Given the description of an element on the screen output the (x, y) to click on. 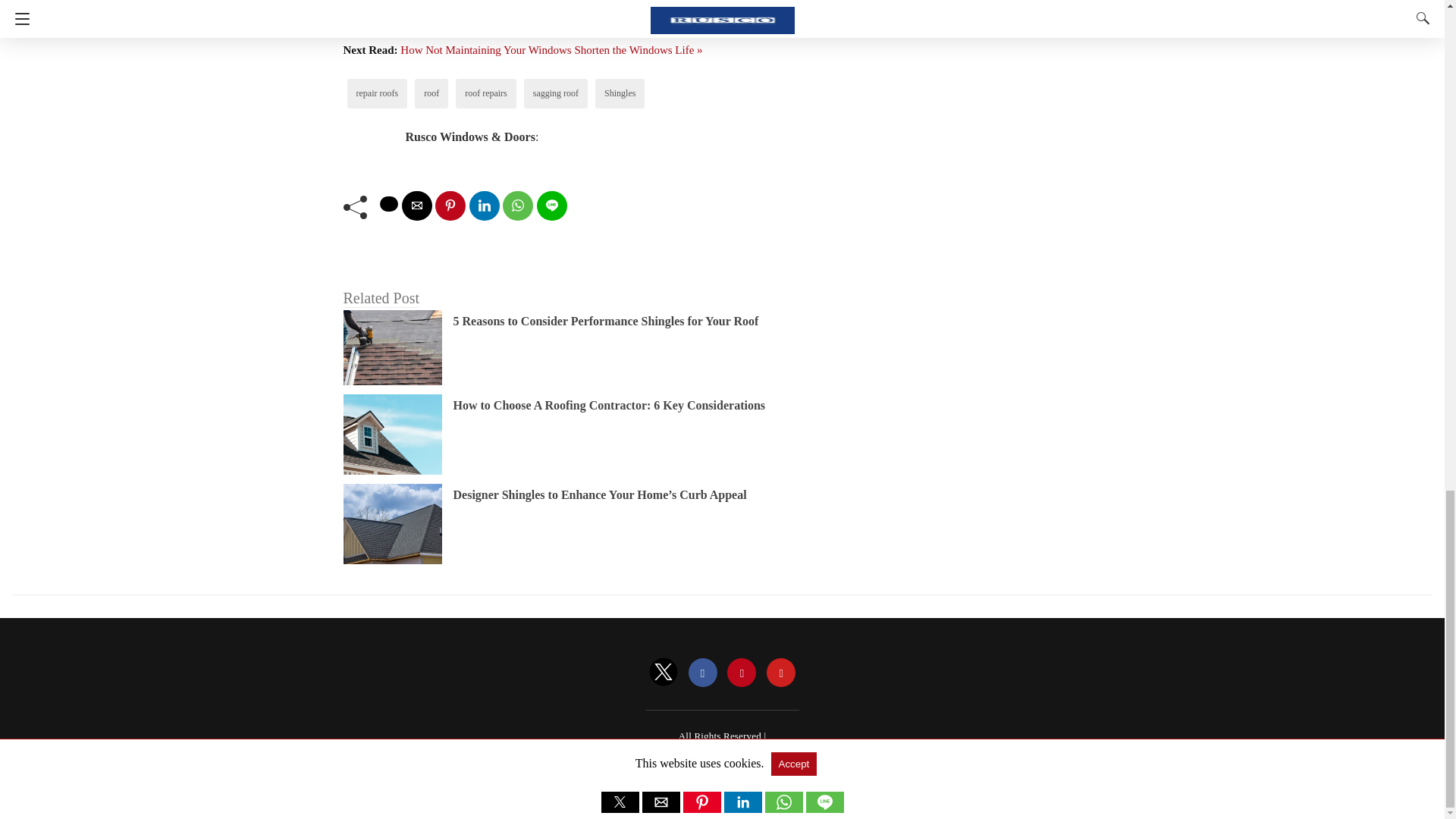
5 Reasons to Consider Performance Shingles for Your Roof (605, 320)
linkedin share (483, 205)
5 Reasons to Consider Performance Shingles for Your Roof (605, 320)
How to Choose A Roofing Contractor: 6 Key Considerations (608, 404)
pinterest profile (740, 673)
youtube profile (780, 673)
facebook profile (702, 673)
pinterest share (450, 205)
mailto (416, 205)
Shingles (619, 92)
